Given the description of an element on the screen output the (x, y) to click on. 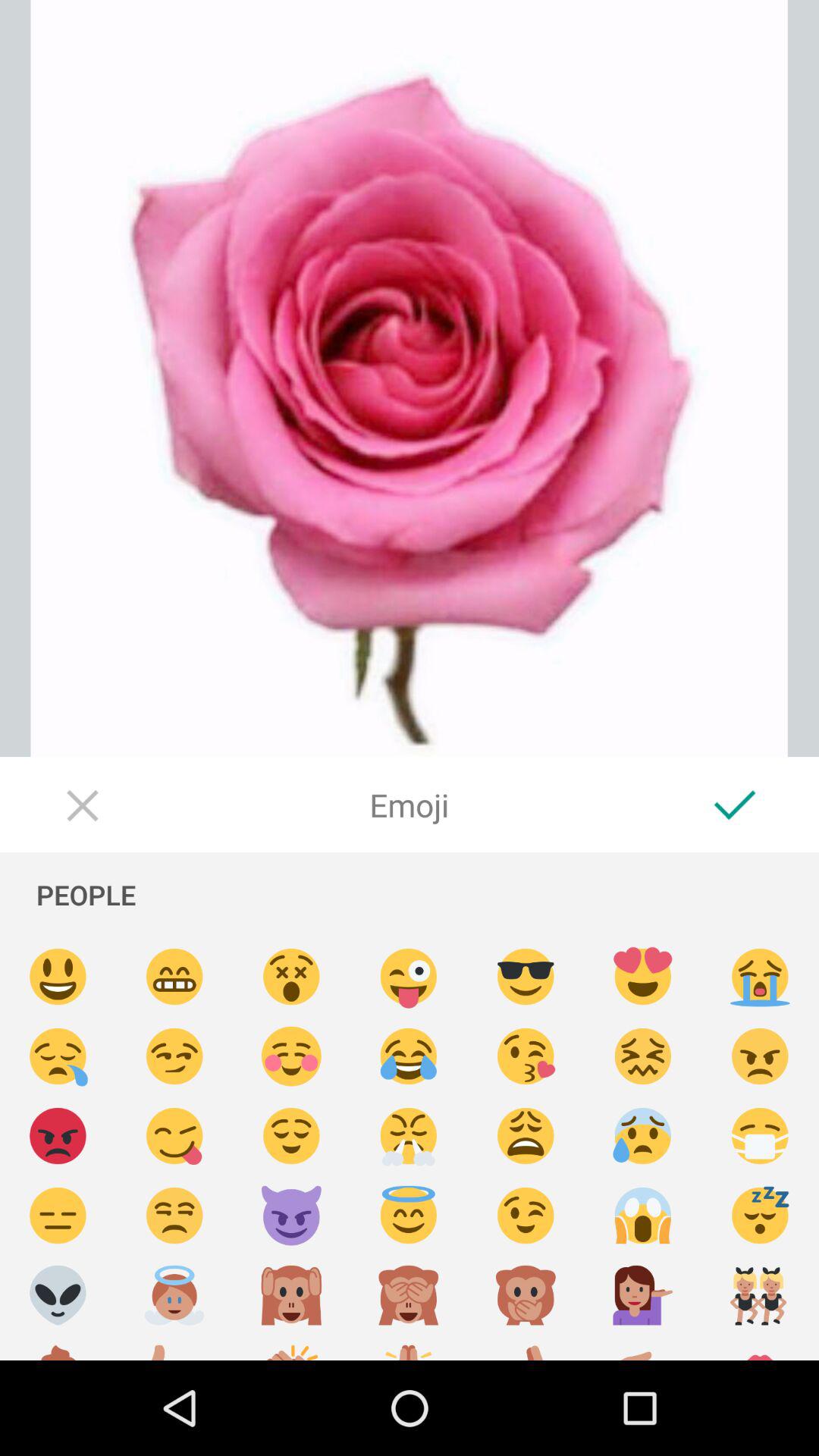
select dead emoji (291, 976)
